Given the description of an element on the screen output the (x, y) to click on. 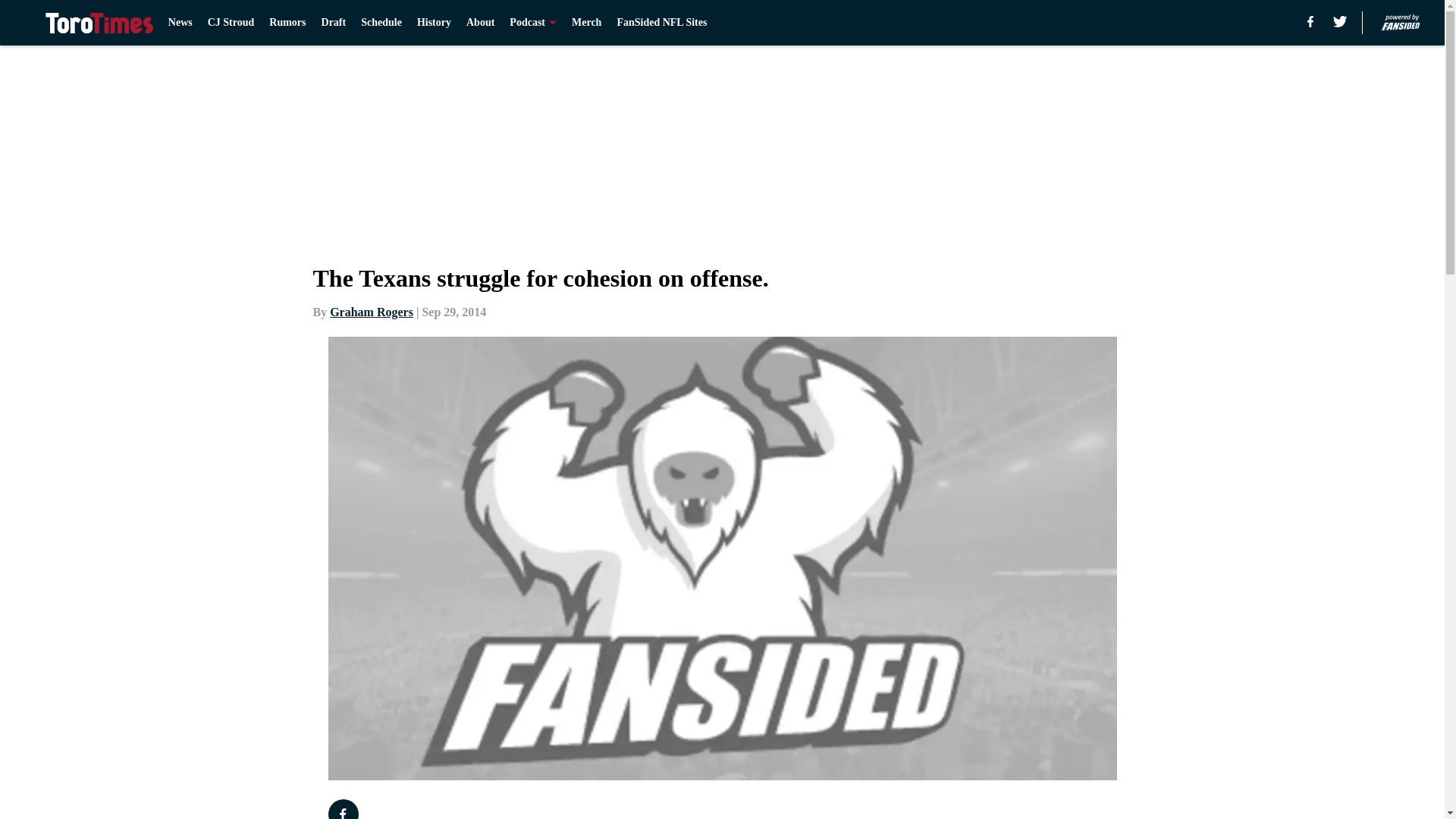
About (480, 22)
Draft (333, 22)
CJ Stroud (231, 22)
Rumors (287, 22)
Schedule (381, 22)
Merch (586, 22)
History (433, 22)
Graham Rogers (371, 311)
News (180, 22)
FanSided NFL Sites (660, 22)
